Given the description of an element on the screen output the (x, y) to click on. 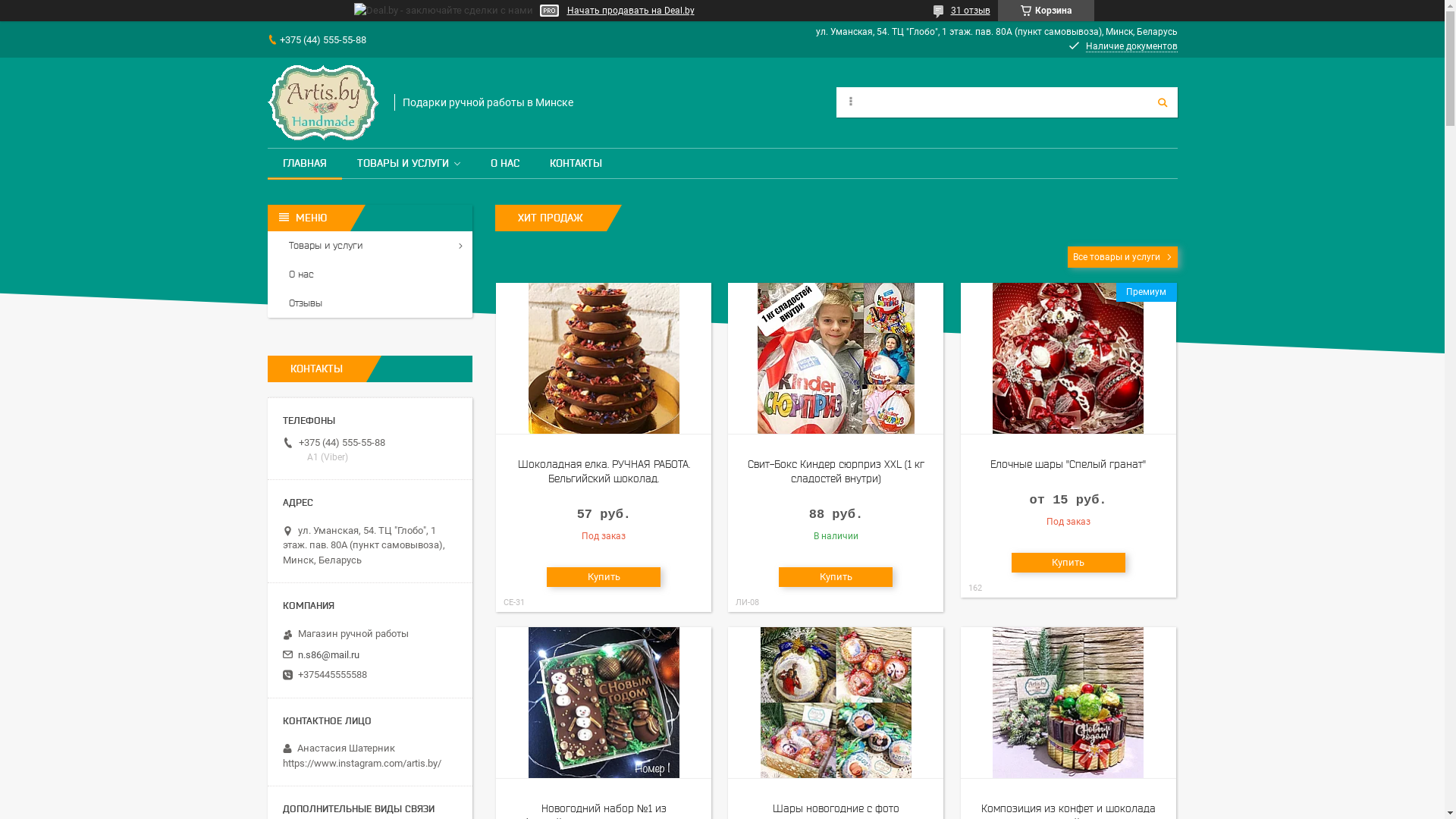
n.s86@mail.ru Element type: text (327, 654)
